Given the description of an element on the screen output the (x, y) to click on. 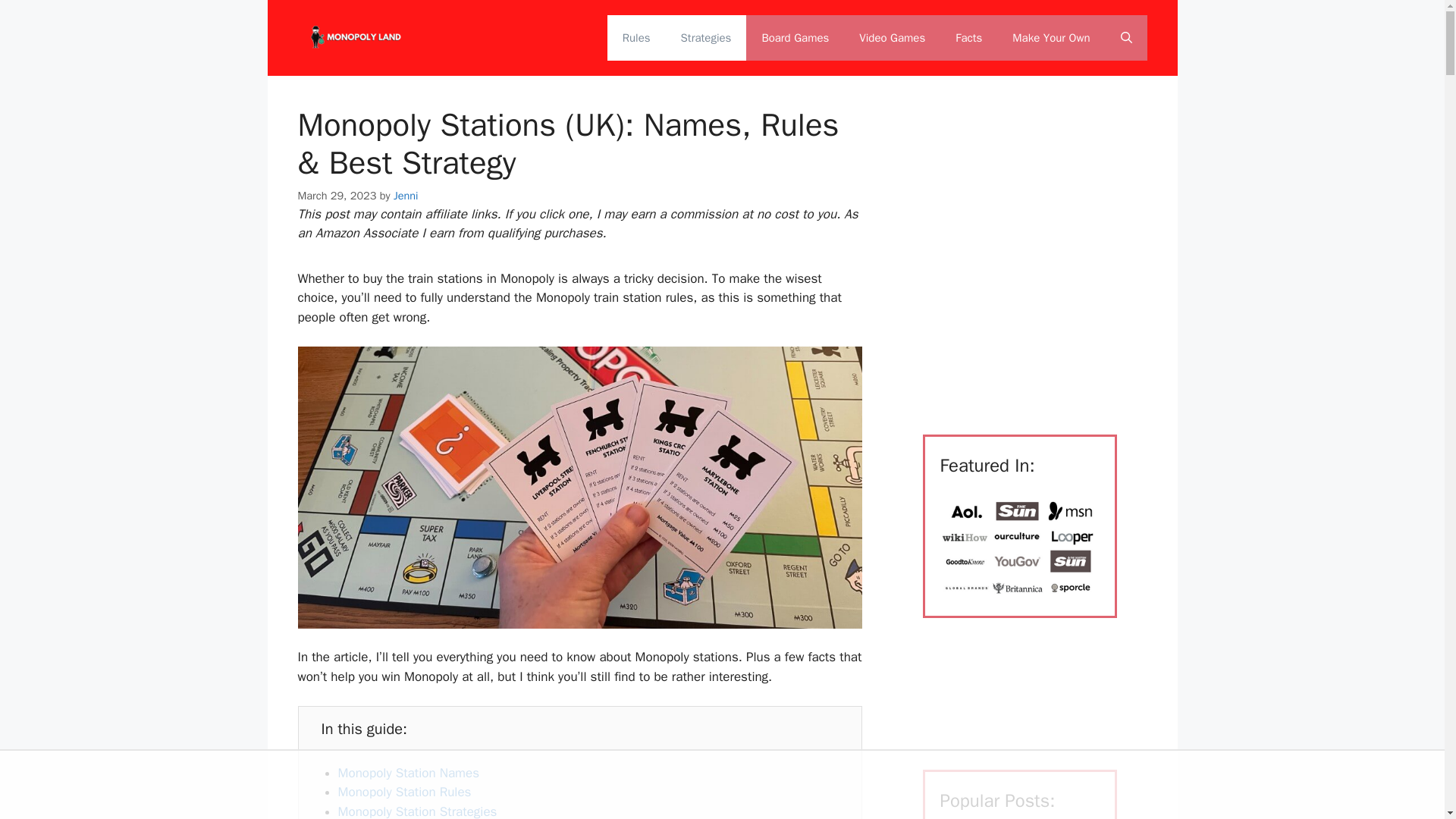
View all posts by Jenni (406, 195)
Strategies (705, 37)
Facts (968, 37)
Board Games (794, 37)
Monopoly Station Names (408, 772)
Video Games (892, 37)
Monopoly Station Rules (404, 791)
Rules (636, 37)
Make Your Own (1051, 37)
Jenni (406, 195)
Monopoly Station Strategies (417, 811)
